Given the description of an element on the screen output the (x, y) to click on. 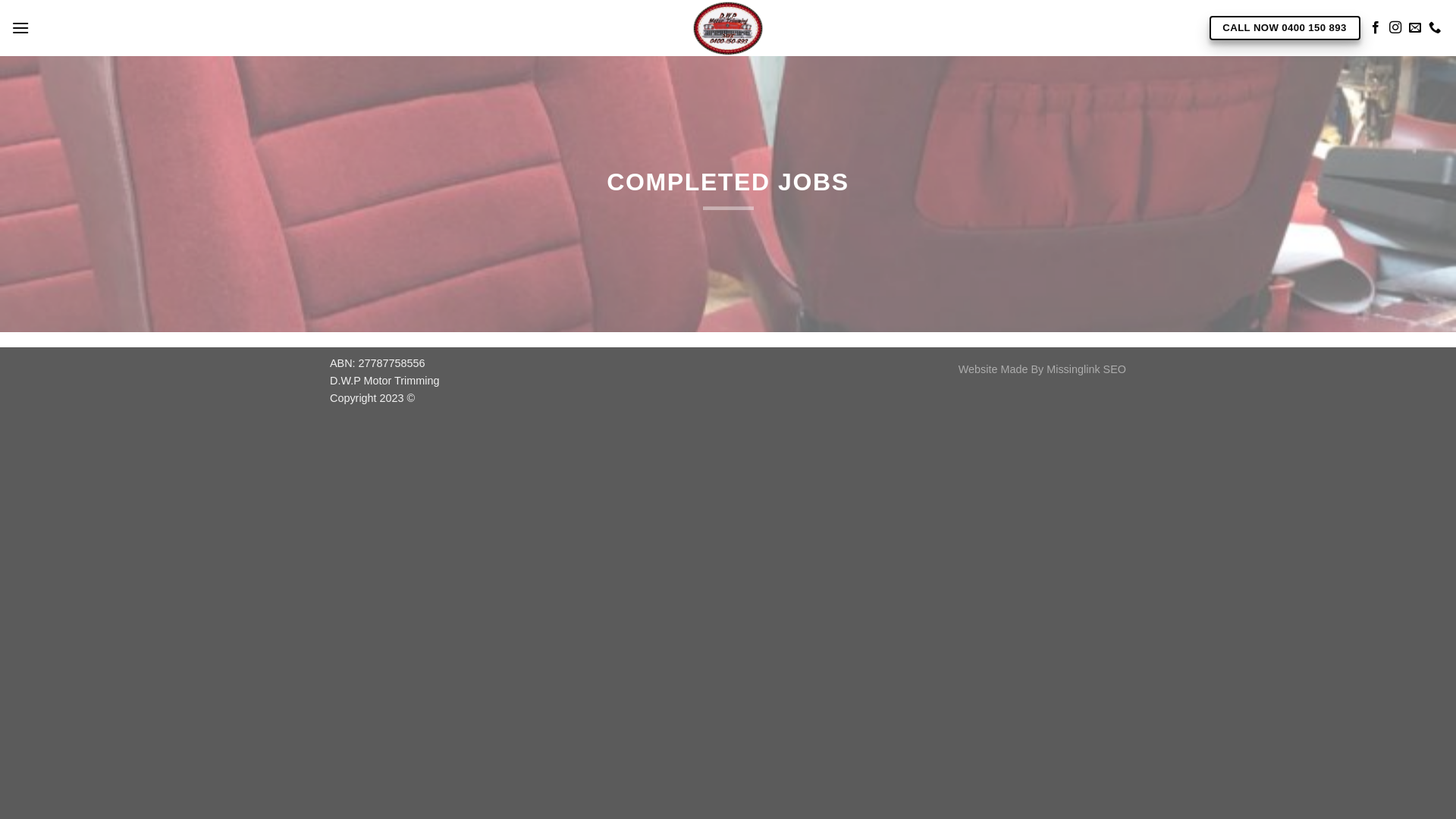
CALL NOW 0400 150 893 Element type: text (1283, 27)
